Given the description of an element on the screen output the (x, y) to click on. 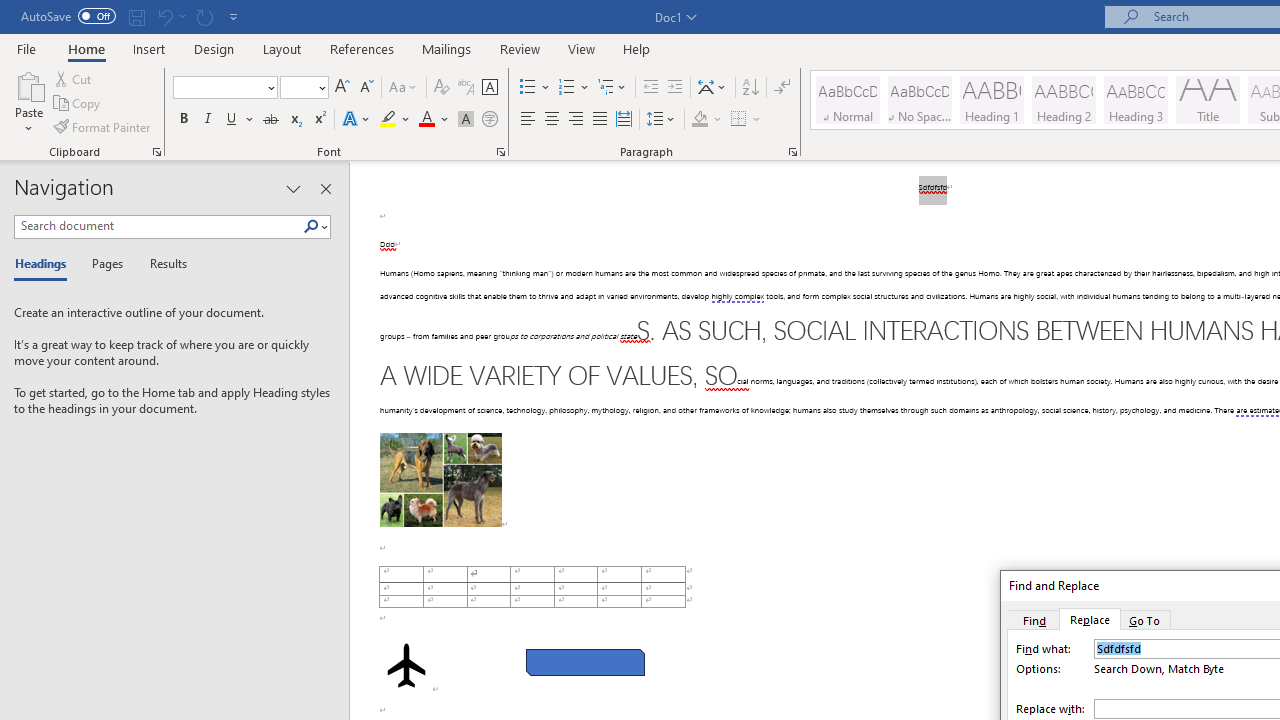
Title (1208, 100)
Replace (1089, 619)
Sort... (750, 87)
Grow Font (342, 87)
